Given the description of an element on the screen output the (x, y) to click on. 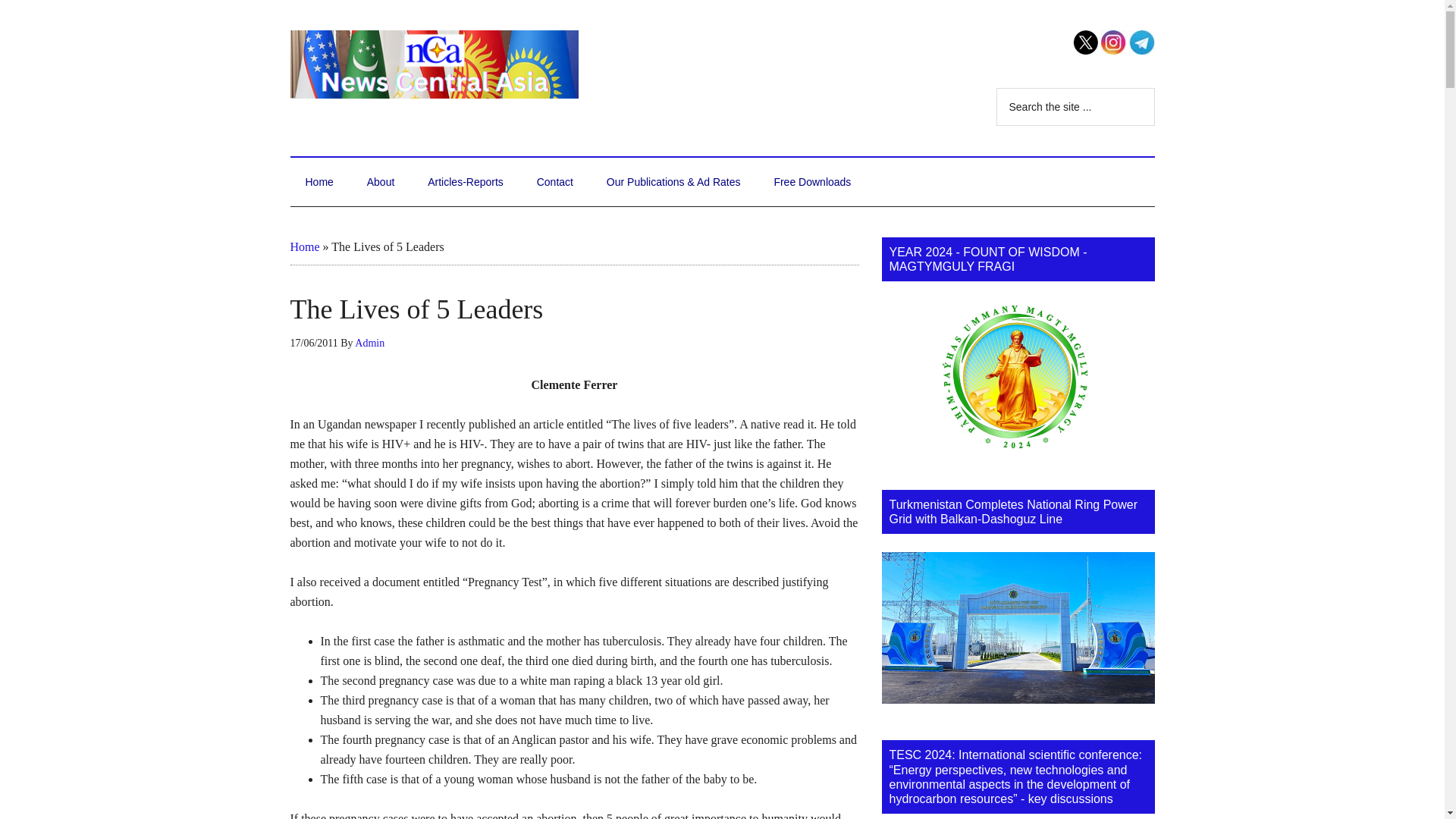
Free Downloads (812, 182)
Admin (369, 342)
Home (318, 182)
Articles-Reports (465, 182)
Home (303, 246)
About (381, 182)
Contact (554, 182)
